Given the description of an element on the screen output the (x, y) to click on. 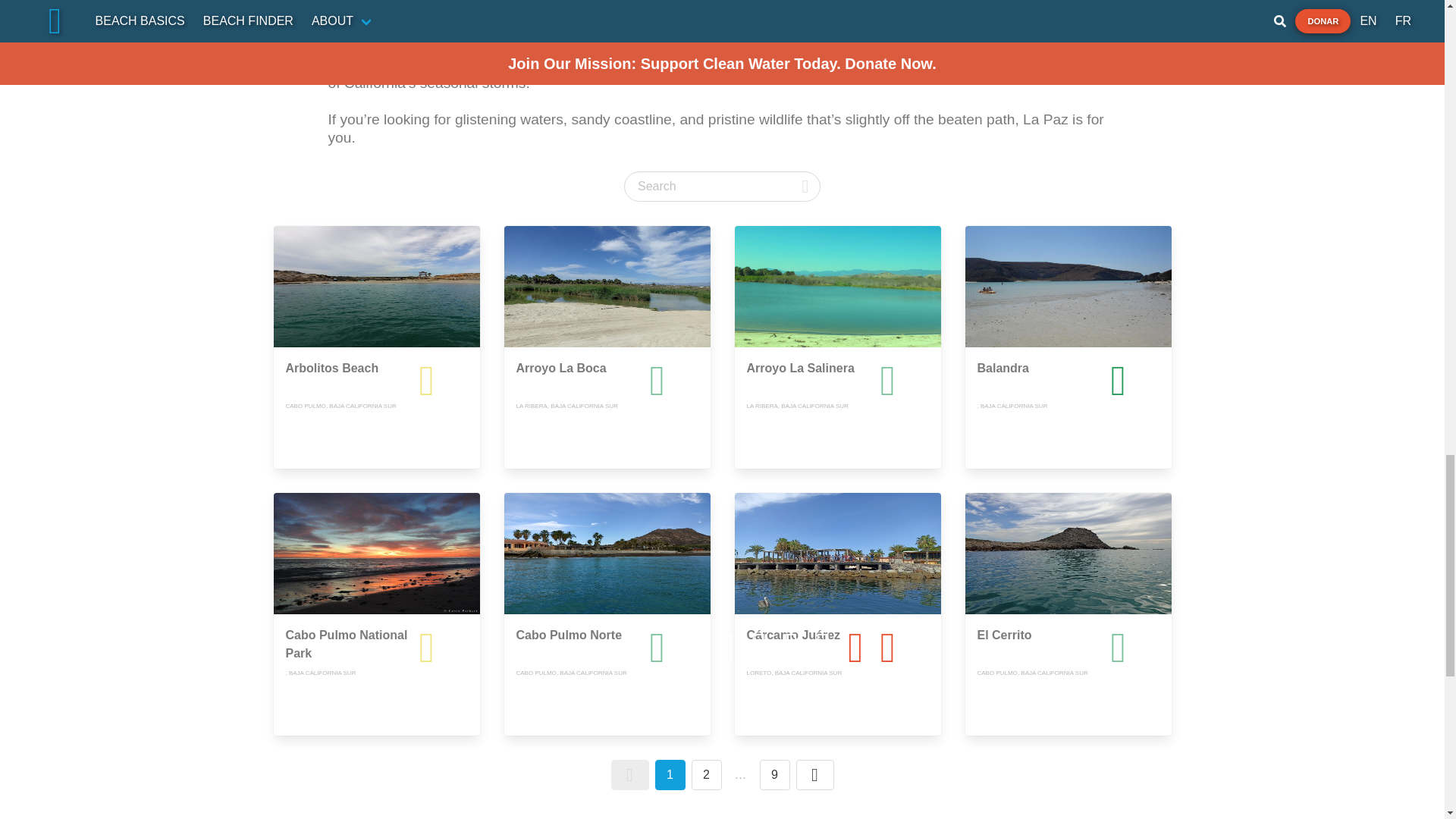
1 (670, 775)
9 (775, 775)
pass (1150, 380)
2 (706, 775)
fail (944, 647)
